Given the description of an element on the screen output the (x, y) to click on. 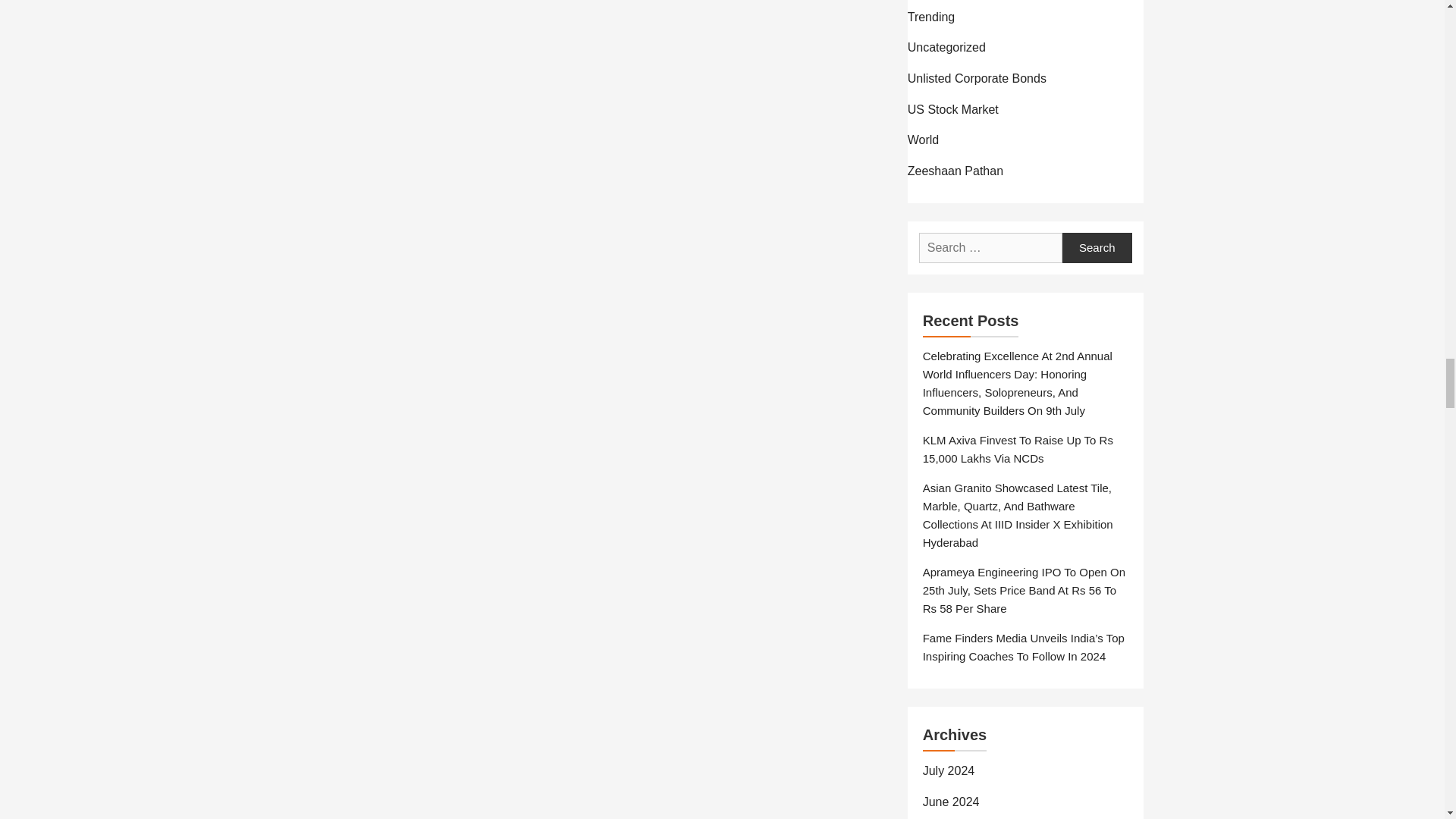
Search (1097, 247)
Search (1097, 247)
